Given the description of an element on the screen output the (x, y) to click on. 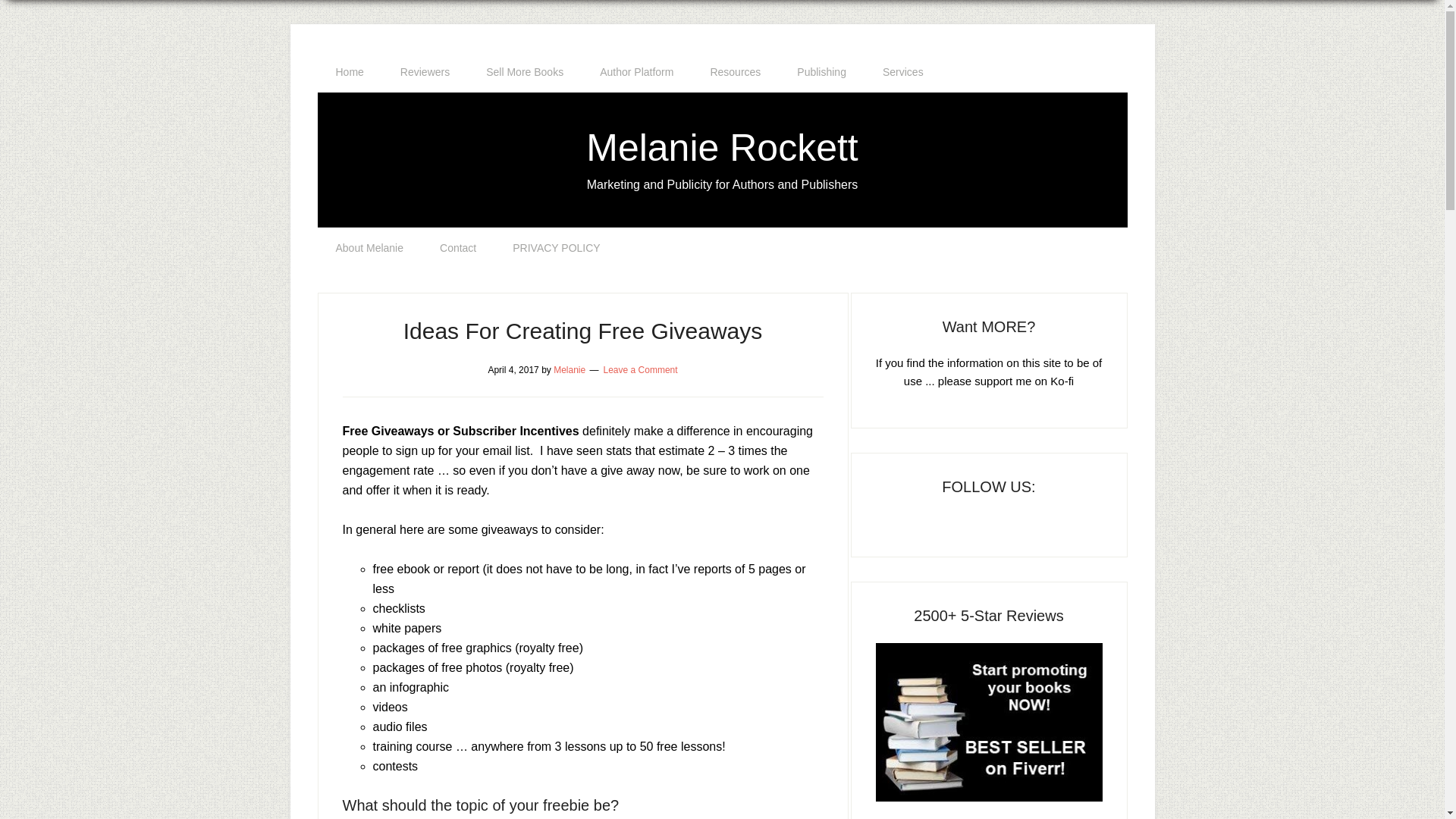
About Melanie (369, 247)
Book Reviewers Directory (424, 71)
Melanie Rockett (722, 147)
Contact (458, 247)
Reviewers (424, 71)
PRIVACY POLICY (556, 247)
Author Platform (635, 71)
Sell More Books (523, 71)
Services (903, 71)
Leave a Comment (641, 369)
